Given the description of an element on the screen output the (x, y) to click on. 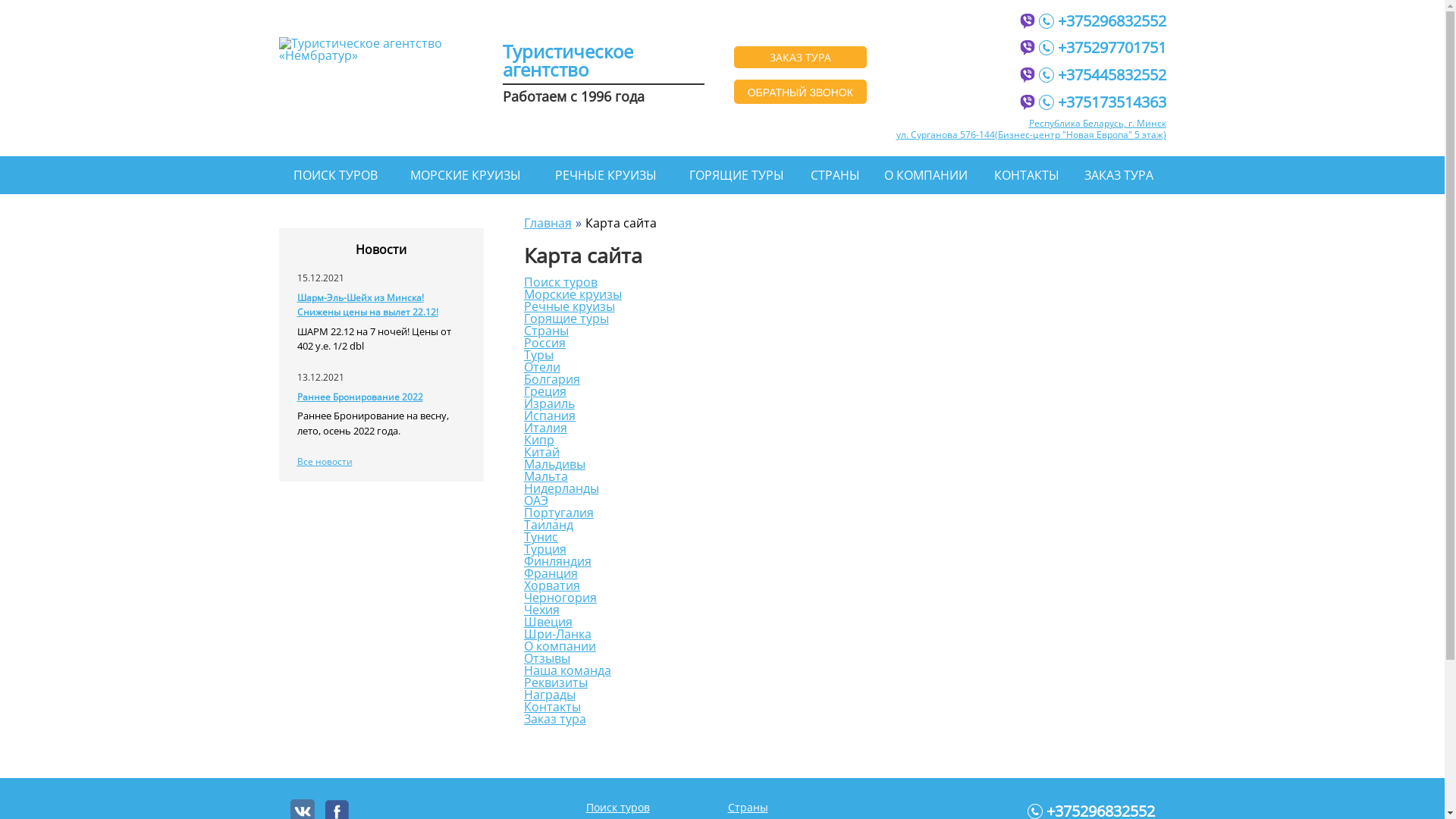
+375173514363 Element type: text (1102, 100)
+375296832552 Element type: text (1102, 19)
+375445832552 Element type: text (1102, 72)
+375297701751 Element type: text (1102, 46)
